Given the description of an element on the screen output the (x, y) to click on. 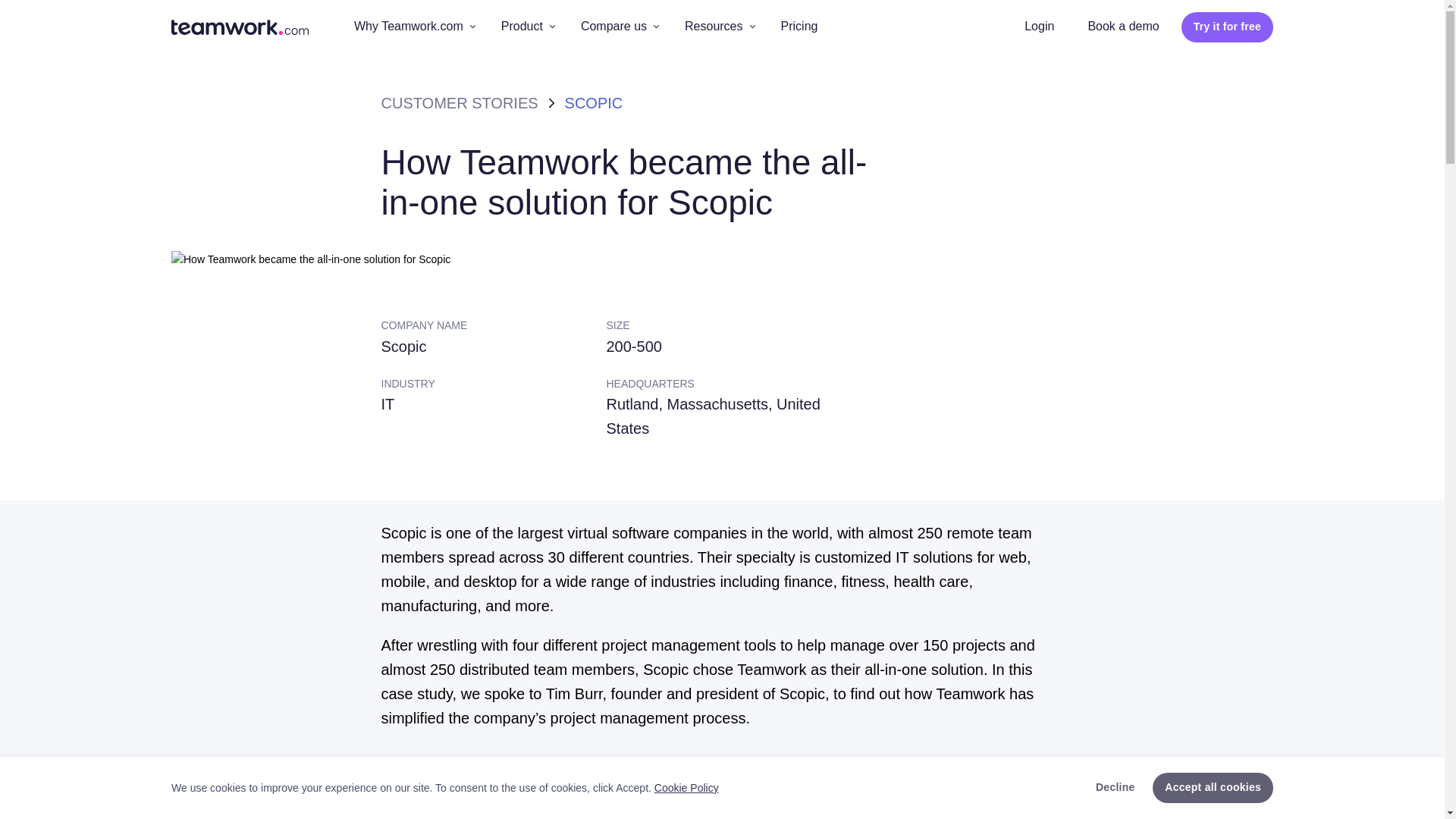
Teamwork.com Home (239, 26)
